Given the description of an element on the screen output the (x, y) to click on. 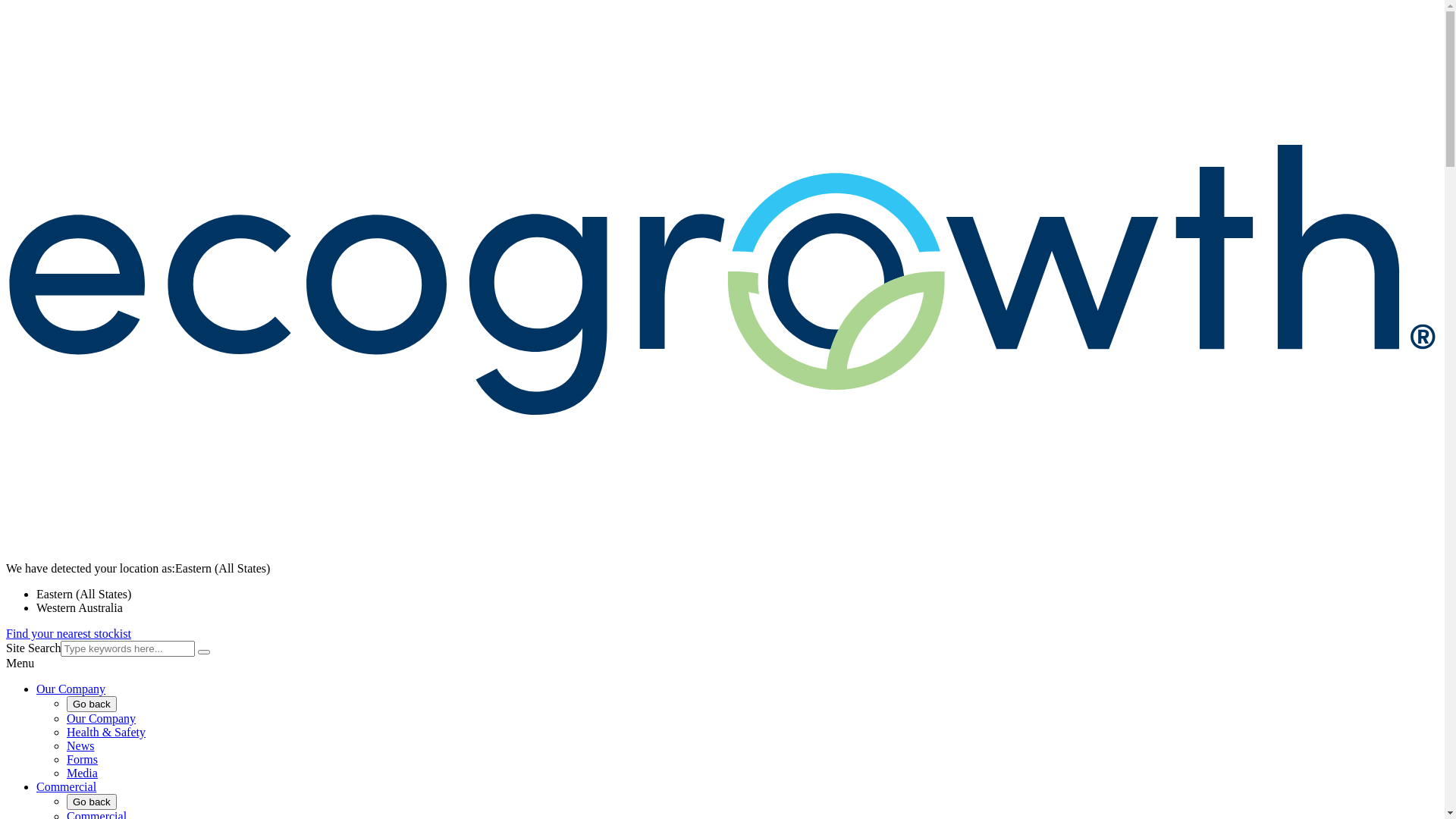
Find your nearest stockist Element type: text (68, 633)
Media Element type: text (81, 772)
Our Company Element type: text (70, 688)
News Element type: text (80, 745)
Commercial Element type: text (66, 786)
Go back Element type: text (91, 801)
Western Australia Element type: text (79, 607)
Our Company Element type: text (100, 718)
Health & Safety Element type: text (105, 731)
Forms Element type: text (81, 759)
Go back Element type: text (91, 704)
Eastern (All States) Element type: text (83, 593)
